Given the description of an element on the screen output the (x, y) to click on. 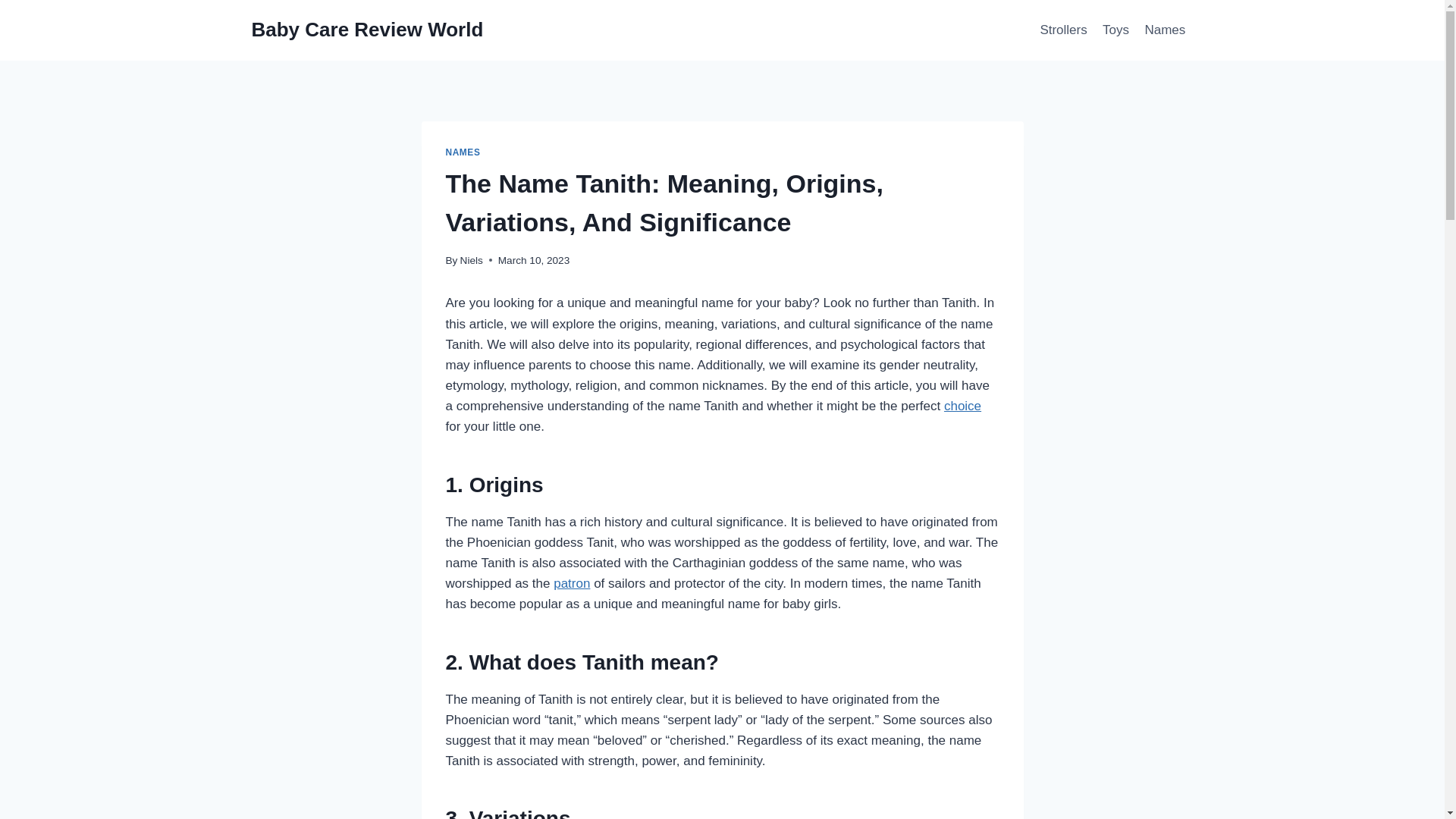
NAMES (462, 152)
Niels (471, 260)
Baby Care Review World (367, 29)
Toys (1115, 30)
patron (571, 583)
Names (1164, 30)
Strollers (1063, 30)
choice (962, 405)
